Given the description of an element on the screen output the (x, y) to click on. 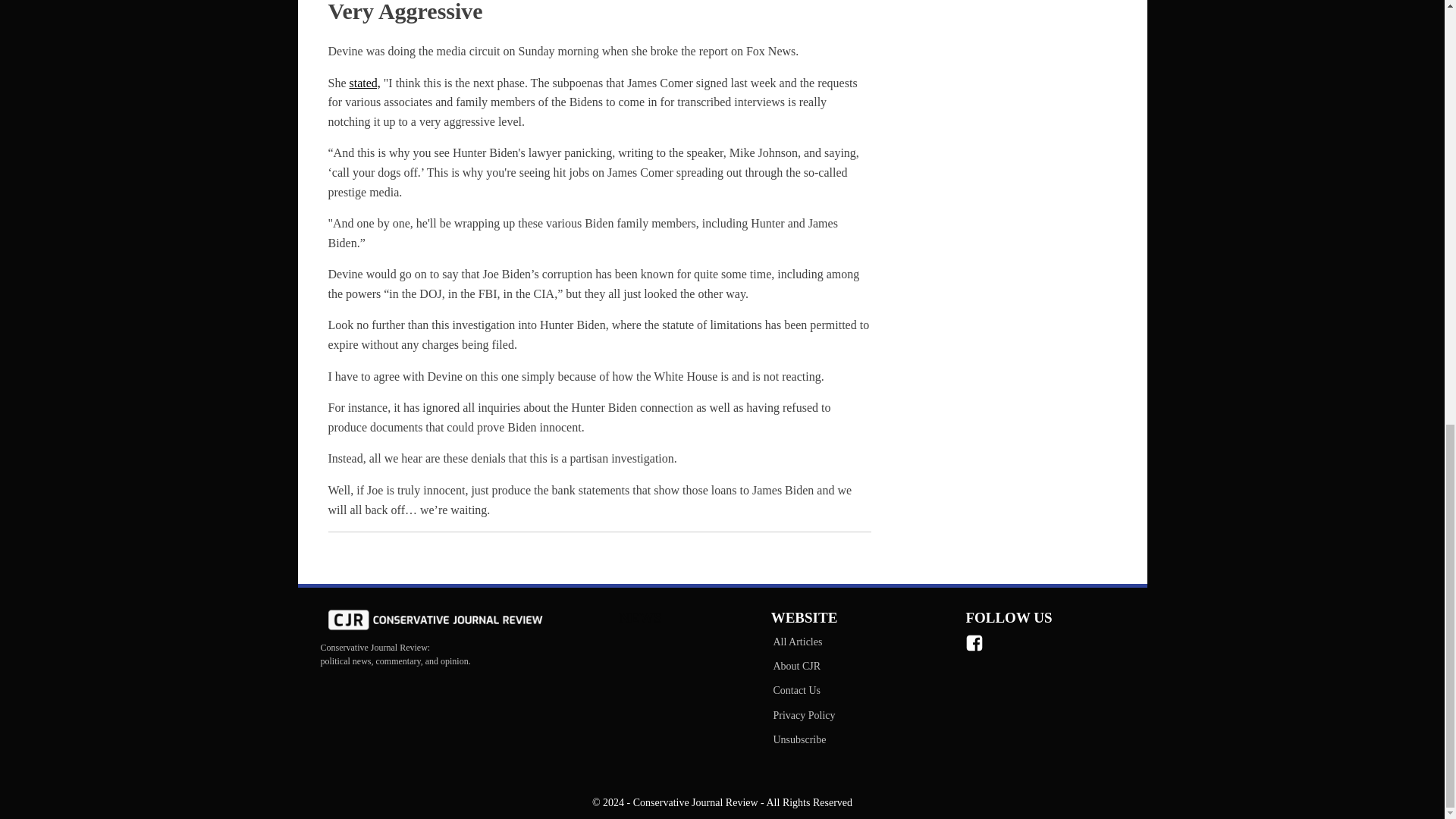
Privacy Policy (803, 715)
Unsubscribe (803, 740)
All Articles (803, 641)
stated, (364, 82)
Contact Us (803, 690)
About CJR (803, 666)
